Given the description of an element on the screen output the (x, y) to click on. 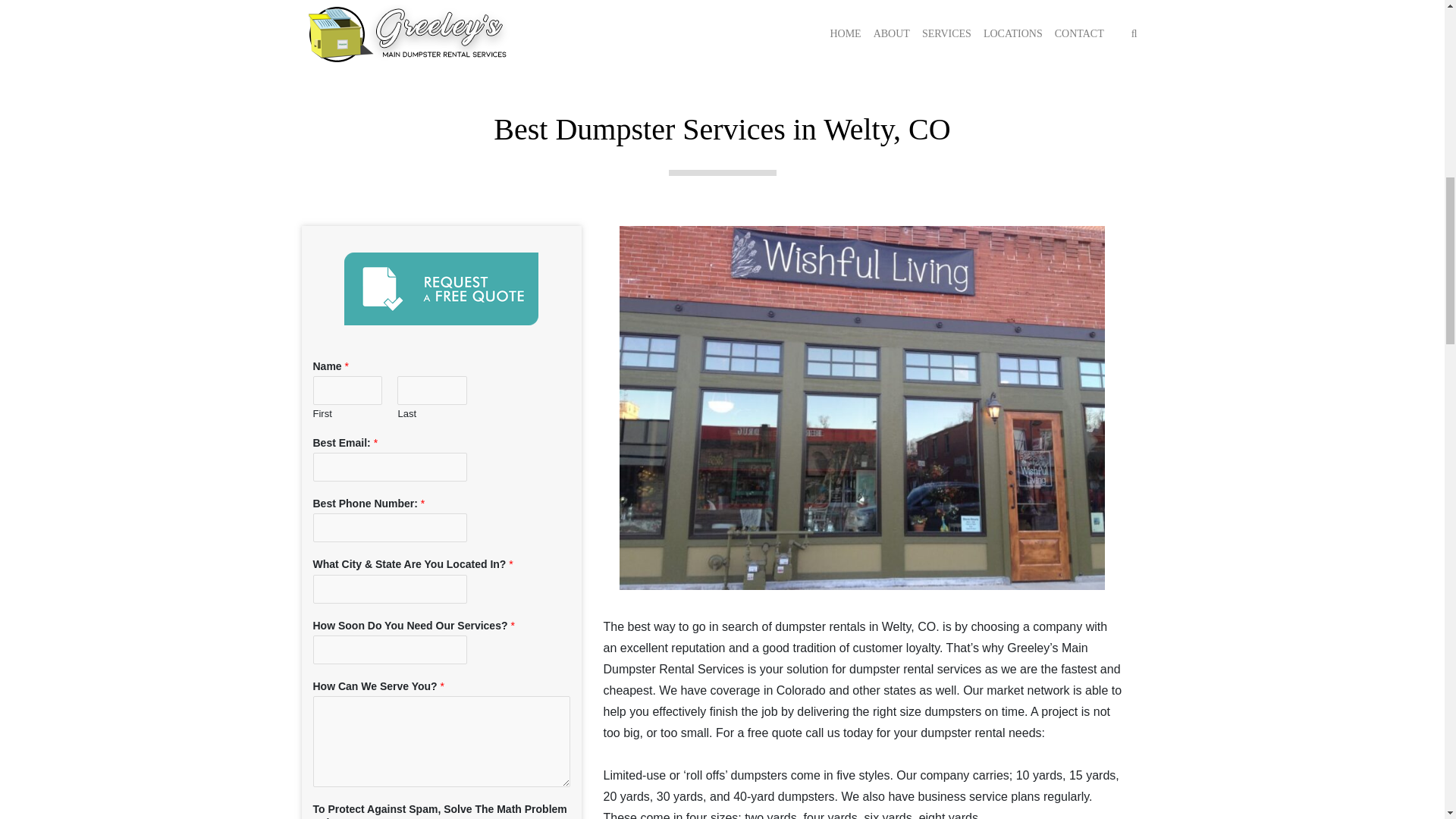
freequote (440, 288)
